Given the description of an element on the screen output the (x, y) to click on. 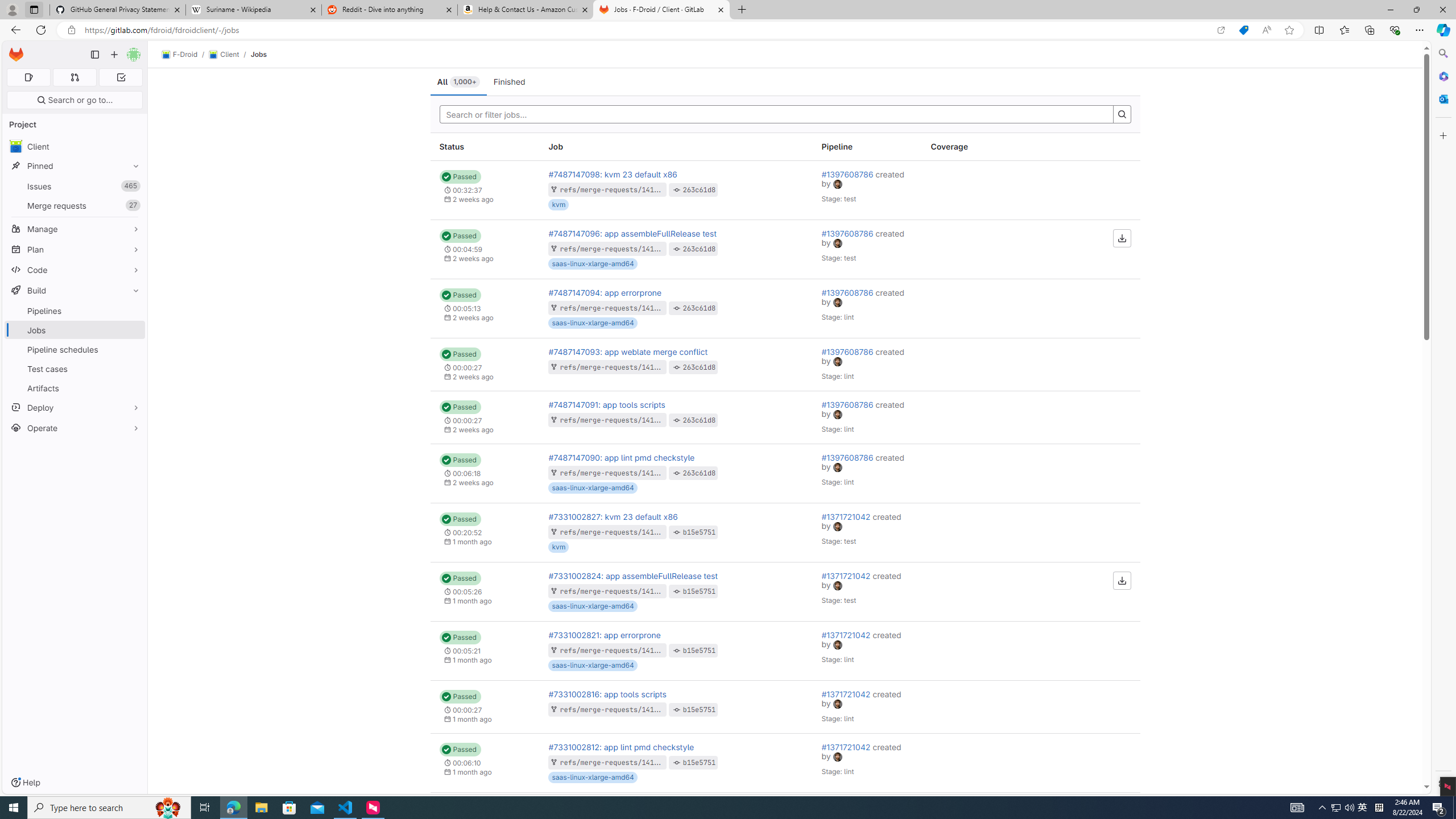
#7487147098: kvm 23 default x86 (612, 174)
Issues465 (74, 185)
Status: Passed 00:32:37 2 weeks ago (484, 190)
Unpin Issues (132, 186)
Issues 465 (74, 185)
b15e5751 (699, 762)
Merge requests27 (74, 205)
#7487147096: app assembleFullRelease test (632, 233)
